Given the description of an element on the screen output the (x, y) to click on. 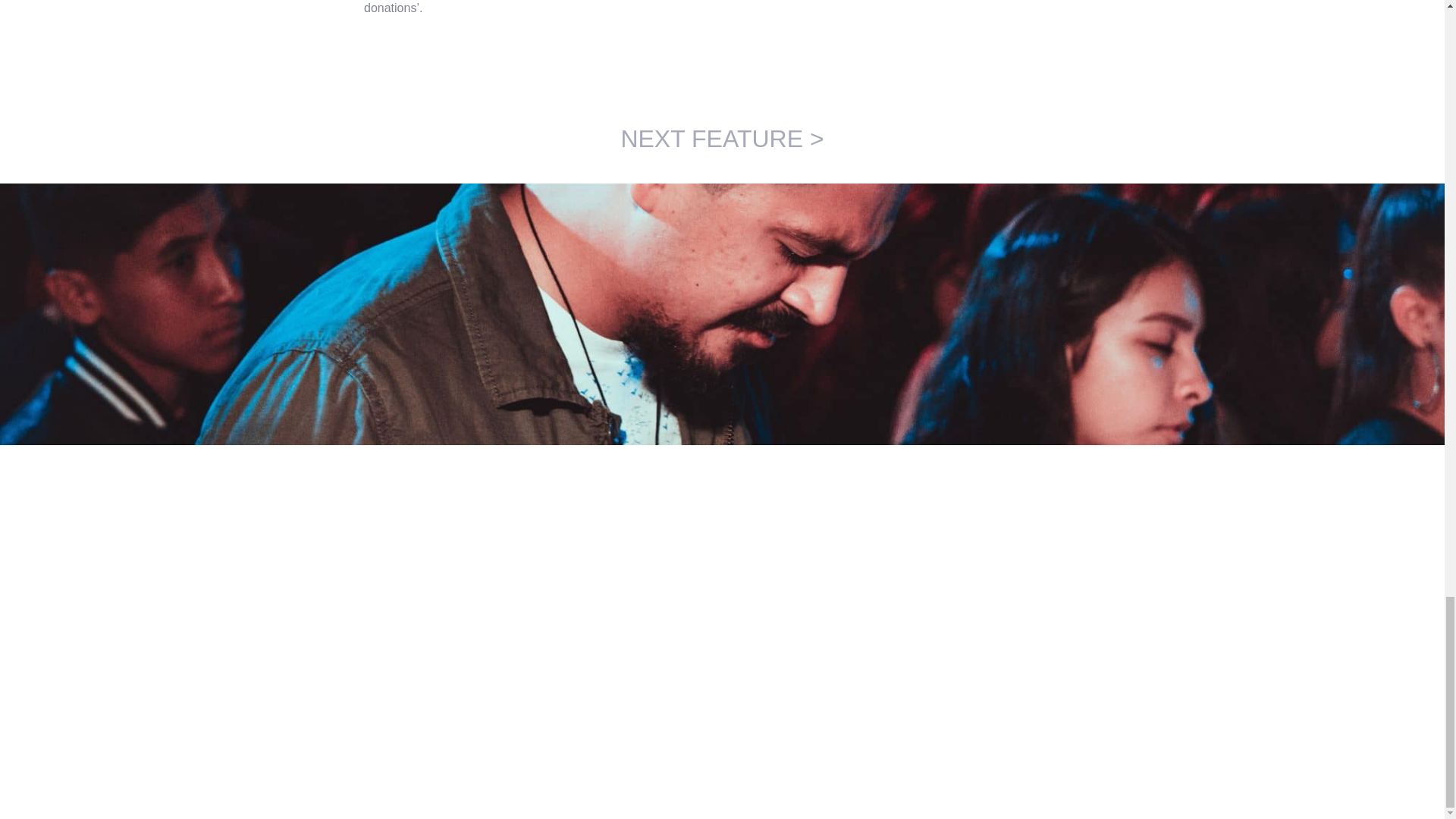
Sermon Management (722, 138)
